Given the description of an element on the screen output the (x, y) to click on. 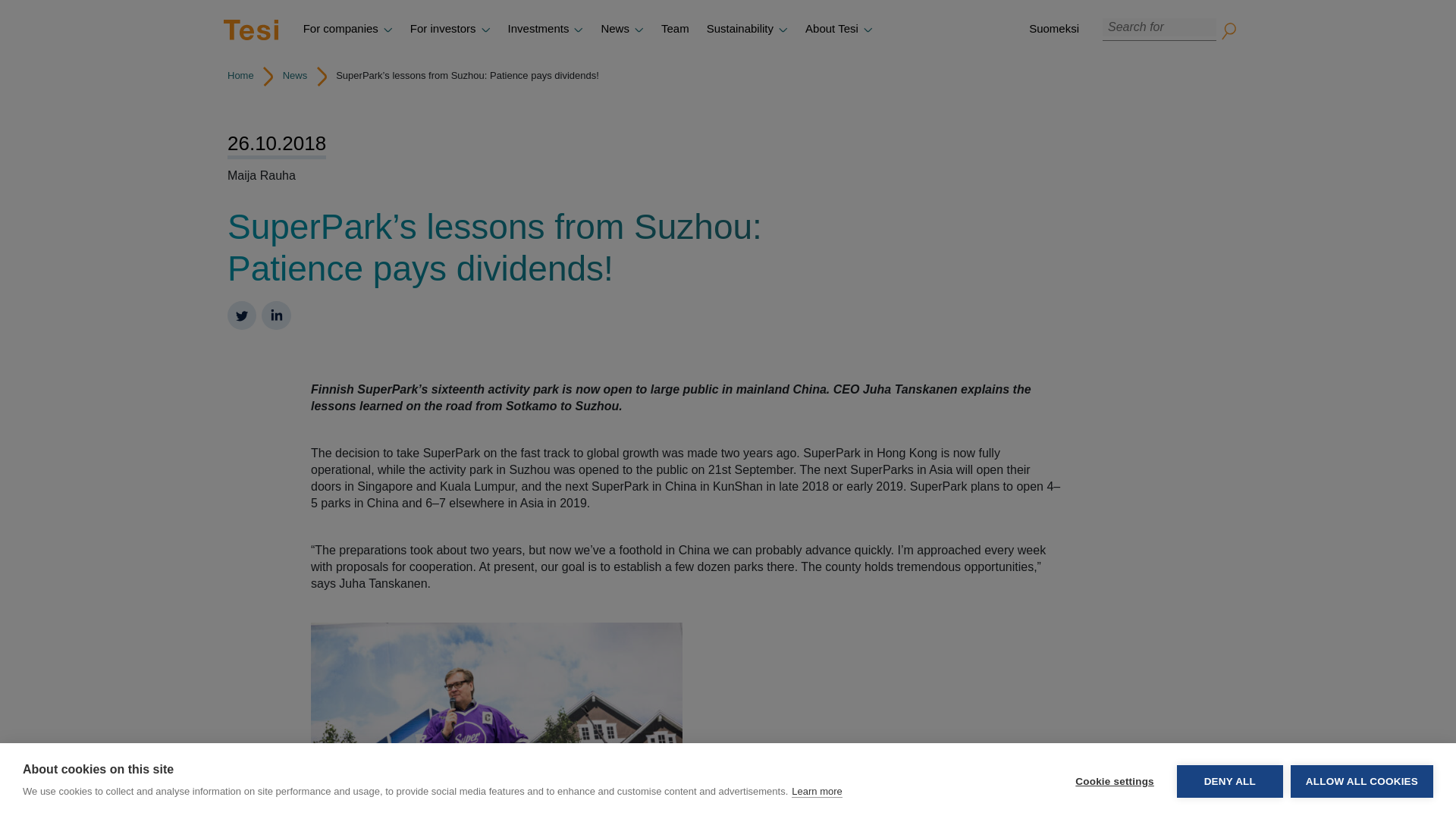
For investors (450, 29)
DENY ALL (1229, 786)
ALLOW ALL COOKIES (1361, 784)
Learn more (816, 814)
For investors (450, 29)
Investments (545, 29)
Investments (545, 29)
For companies (347, 29)
Suomeksi (1053, 29)
Sustainability (746, 29)
Cookie settings (1114, 791)
News (621, 29)
For companies (347, 29)
